Given the description of an element on the screen output the (x, y) to click on. 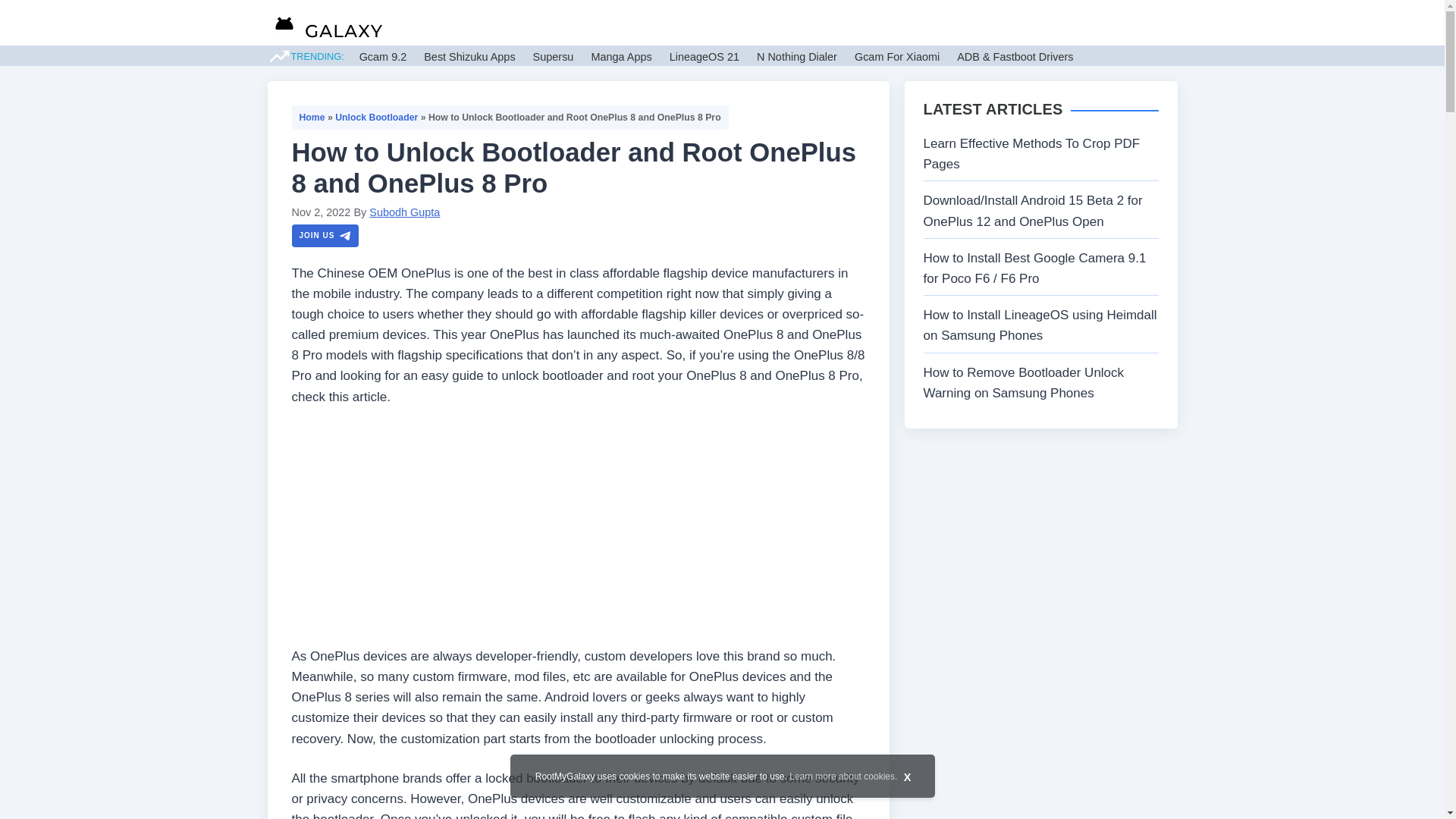
Guides (761, 22)
JOIN US (324, 235)
Wallpapers (884, 22)
Tools (950, 22)
N Nothing Dialer (797, 55)
Unlock Bootloader (375, 117)
Rootmygalaxy (325, 25)
Gcam 9.2 (383, 55)
Home (311, 117)
Manga Apps (620, 55)
Subodh Gupta (404, 212)
View all posts by Subodh Gupta (404, 212)
Advertisement (577, 531)
Gcam (817, 22)
Others (1013, 22)
